Given the description of an element on the screen output the (x, y) to click on. 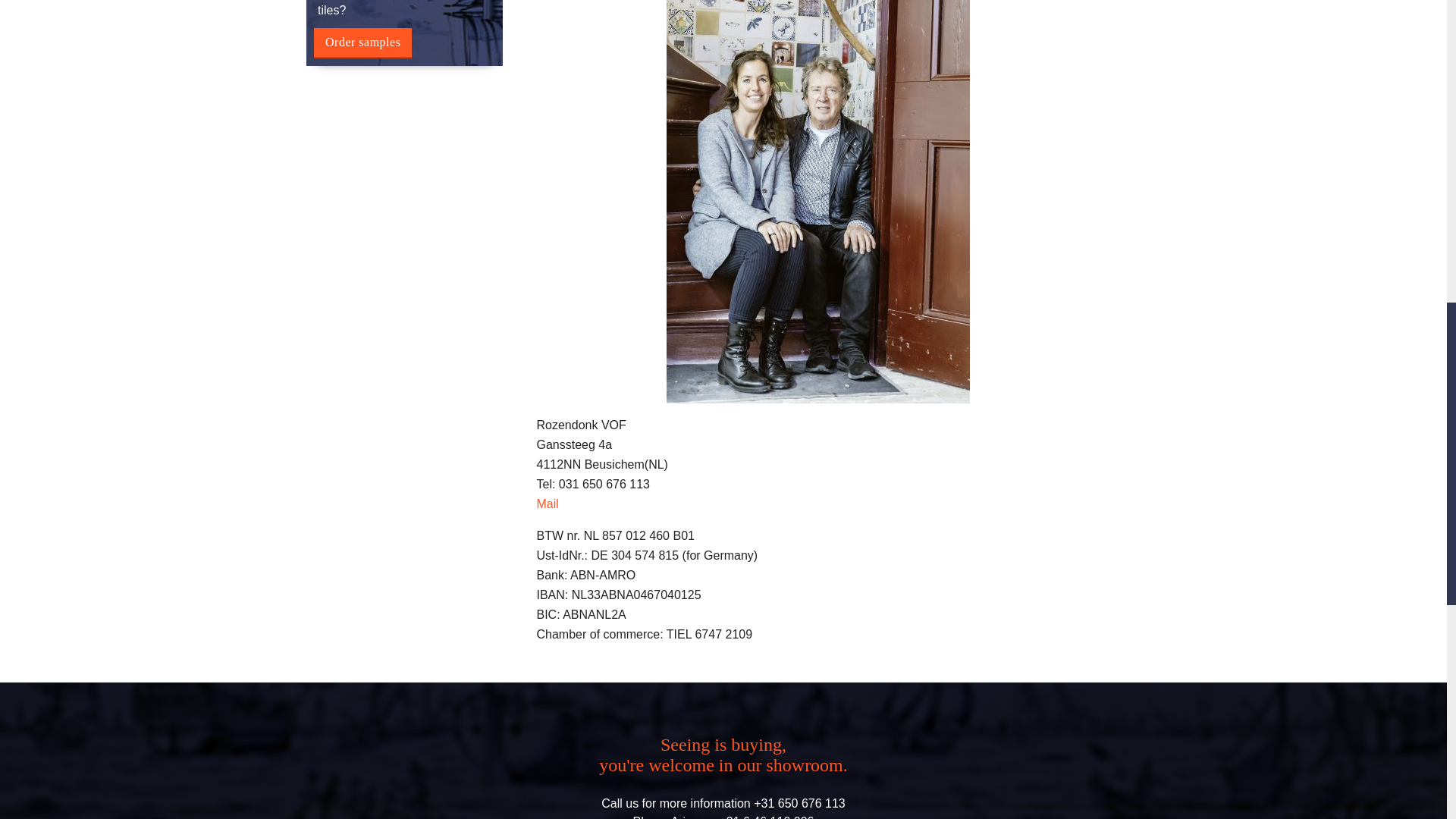
Order samples (363, 42)
